Given the description of an element on the screen output the (x, y) to click on. 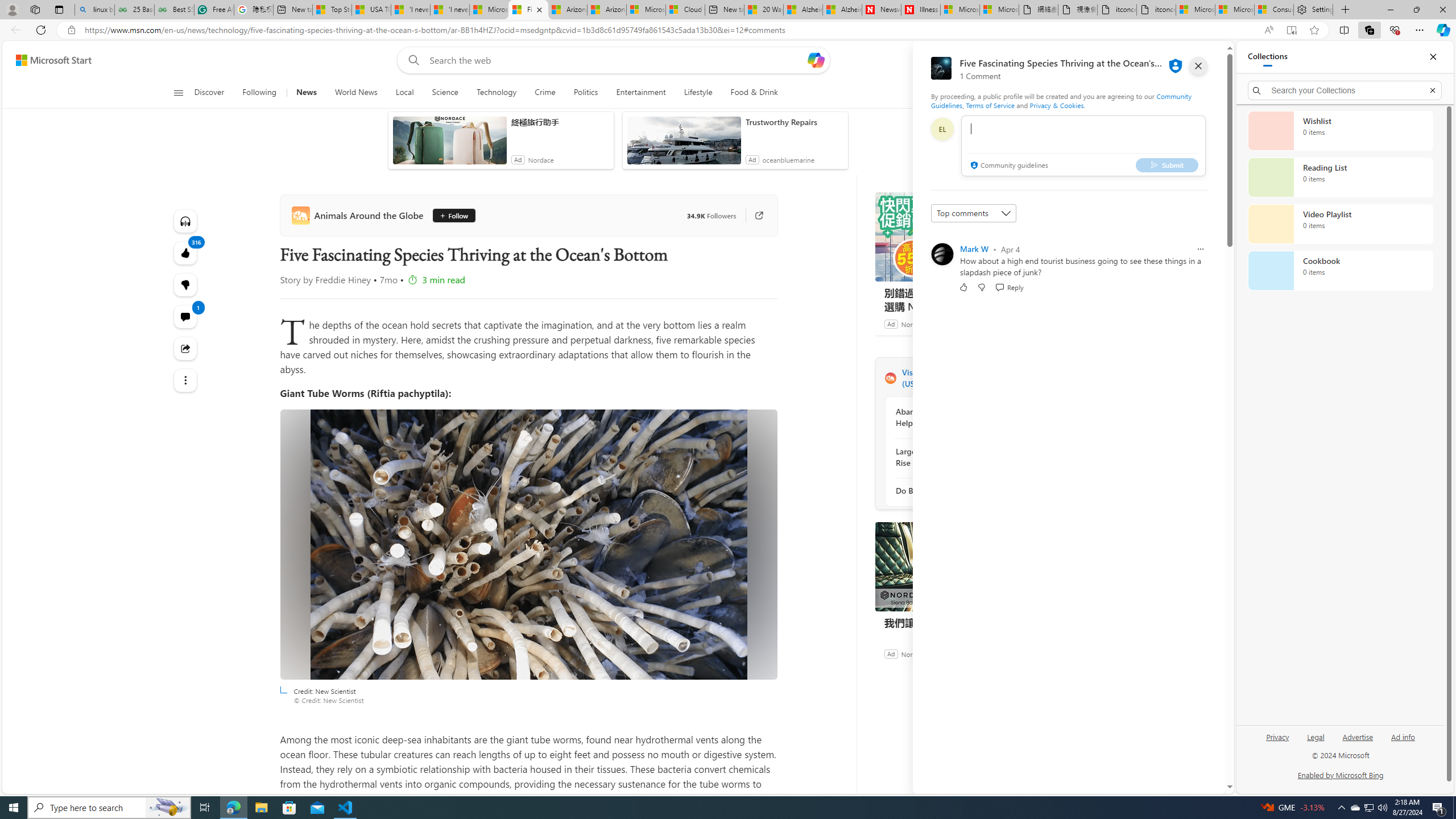
Lifestyle (697, 92)
Politics (585, 92)
Class: at-item (184, 380)
Politics (585, 92)
Search your Collections (1345, 90)
World News (355, 92)
Crime (545, 92)
Entertainment (640, 92)
Food & Drink (748, 92)
